Given the description of an element on the screen output the (x, y) to click on. 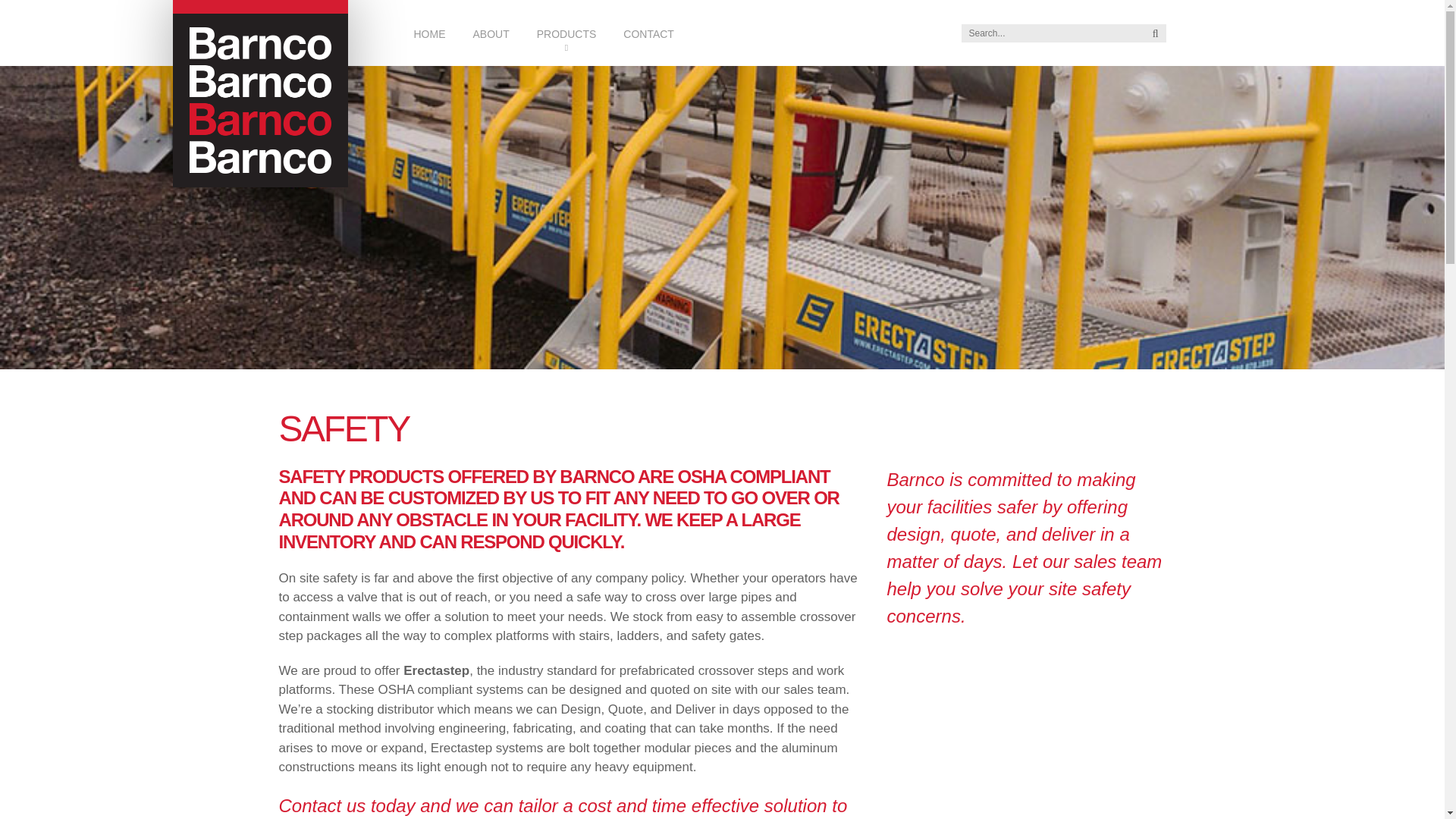
CONTACT (648, 33)
PRODUCTS (566, 33)
Barnco, Inc. (260, 93)
